Given the description of an element on the screen output the (x, y) to click on. 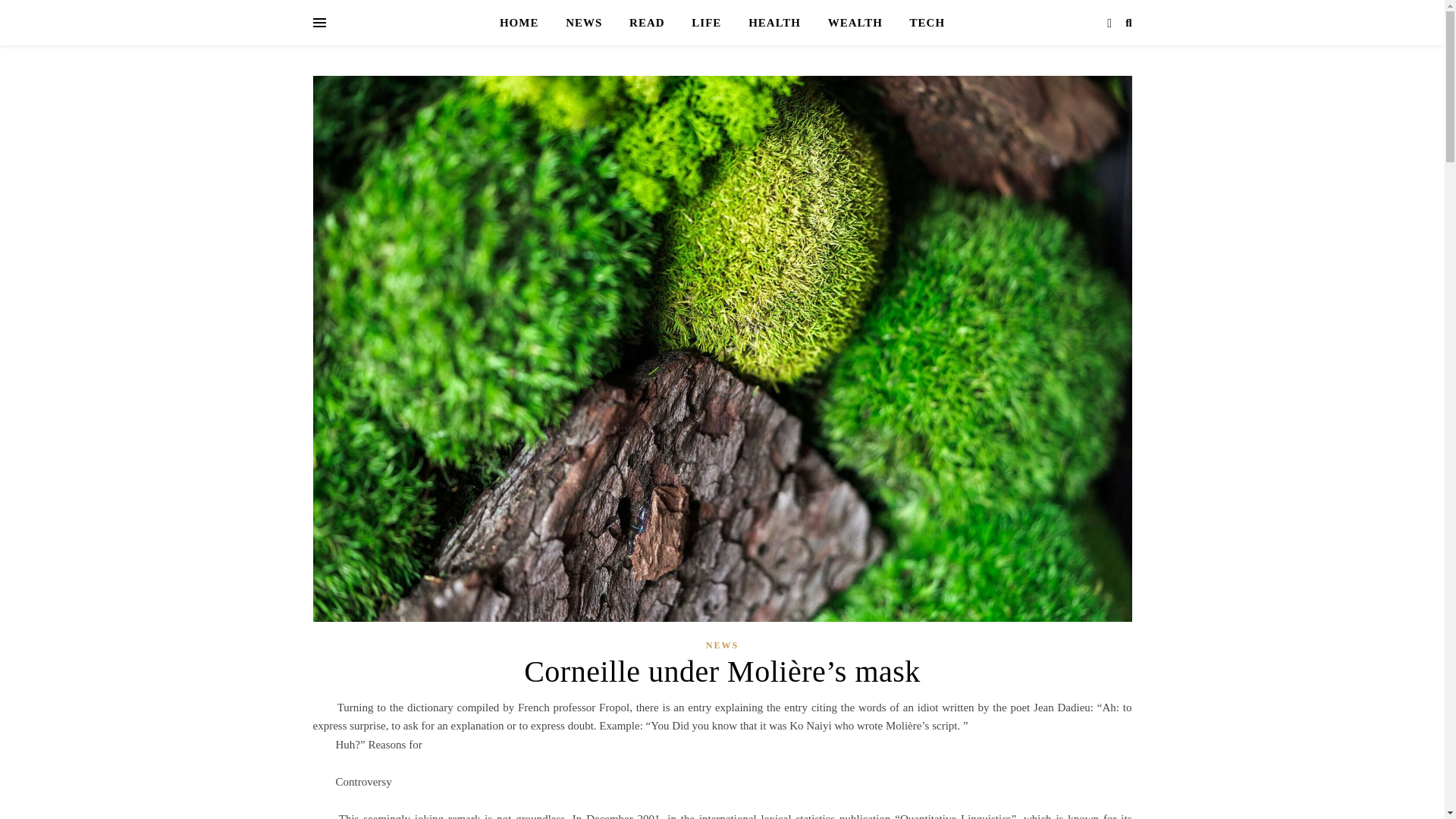
HOME (525, 22)
NEWS (722, 645)
TECH (921, 22)
READ (647, 22)
HEALTH (774, 22)
WEALTH (855, 22)
LIFE (706, 22)
NEWS (583, 22)
